Given the description of an element on the screen output the (x, y) to click on. 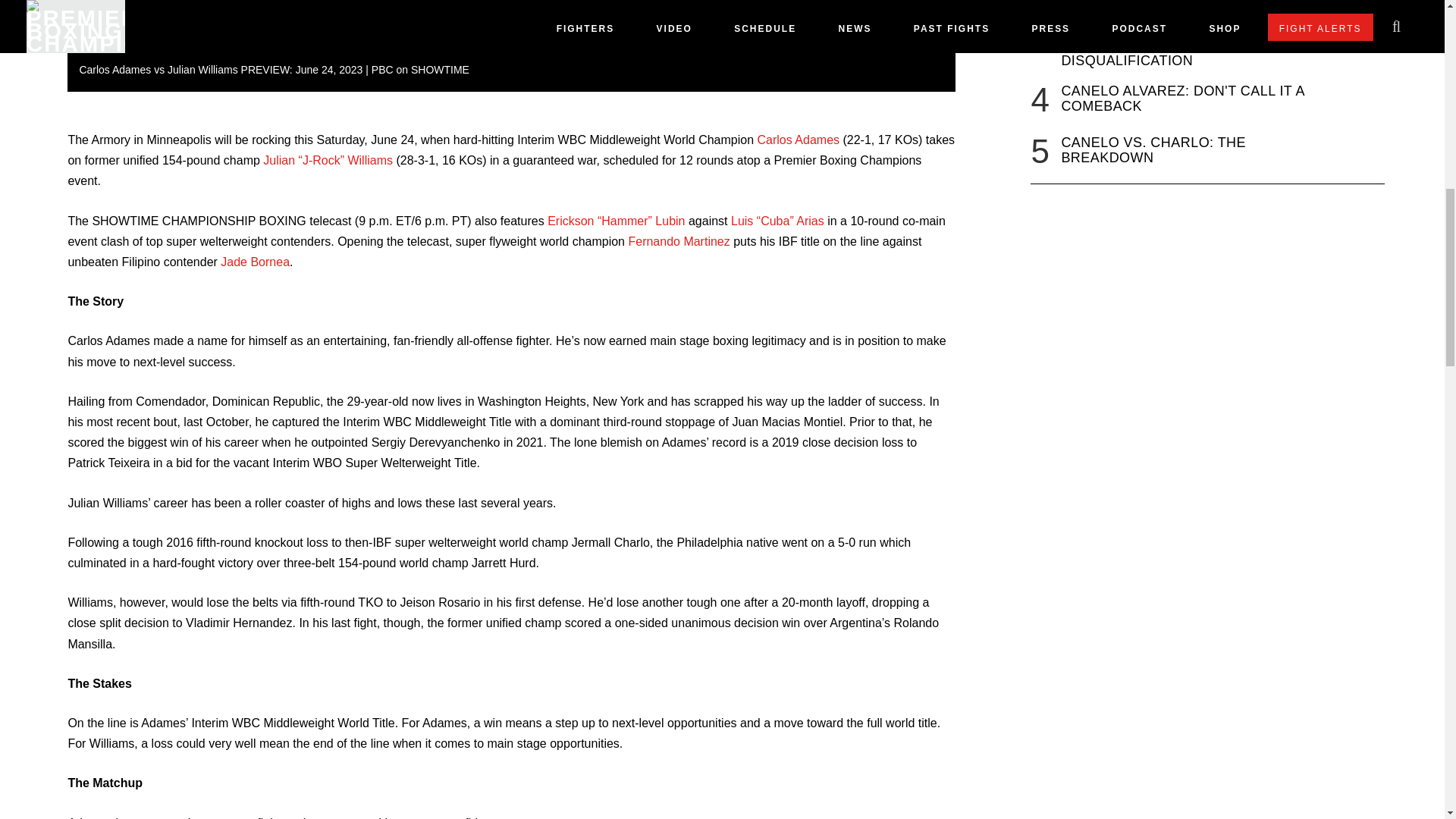
Jade Bornea (255, 261)
Carlos Adames (798, 139)
Fernando Martinez (678, 241)
